Given the description of an element on the screen output the (x, y) to click on. 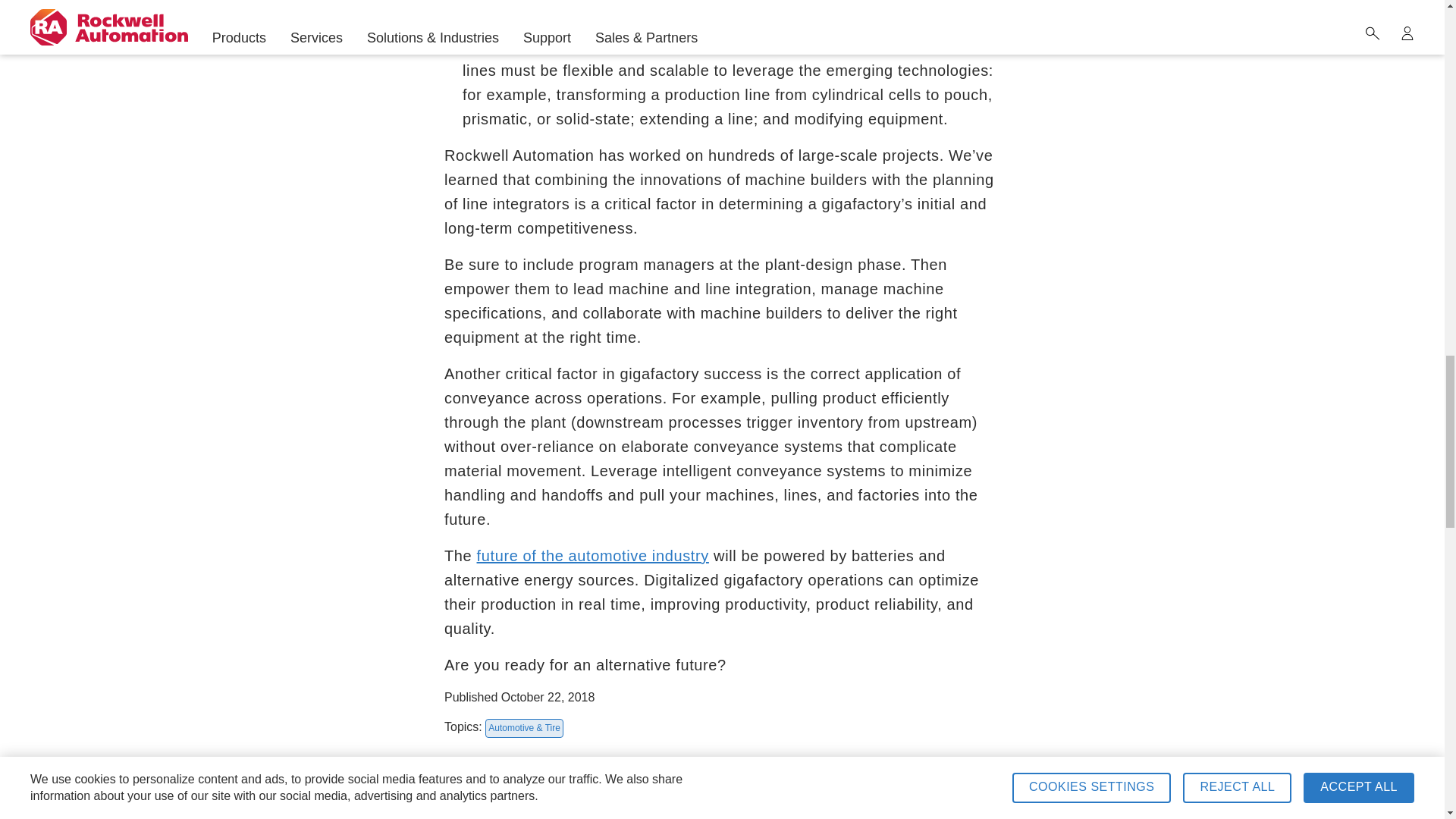
Automotive Manufacturing (593, 555)
